Given the description of an element on the screen output the (x, y) to click on. 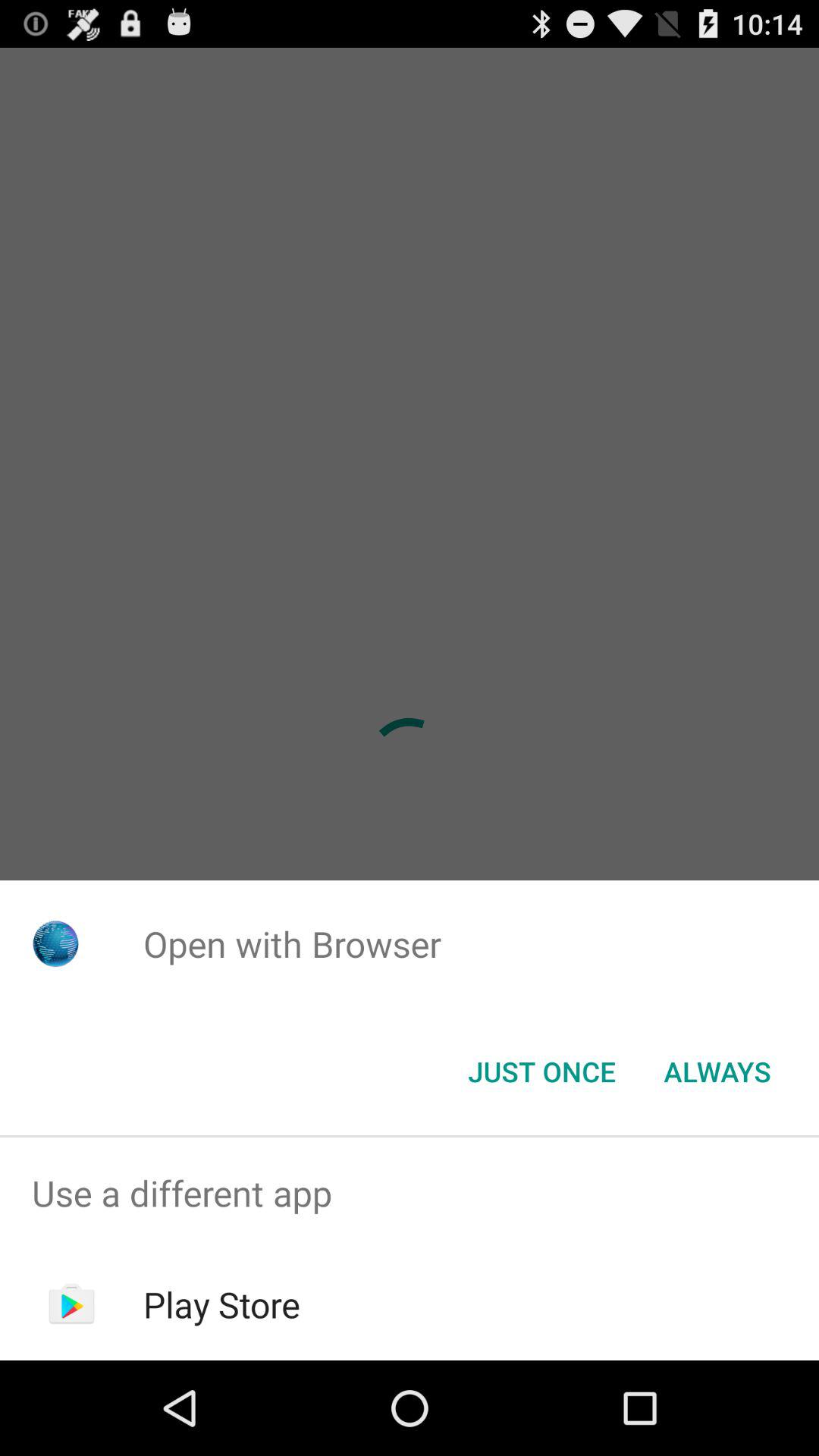
flip until play store icon (221, 1304)
